Given the description of an element on the screen output the (x, y) to click on. 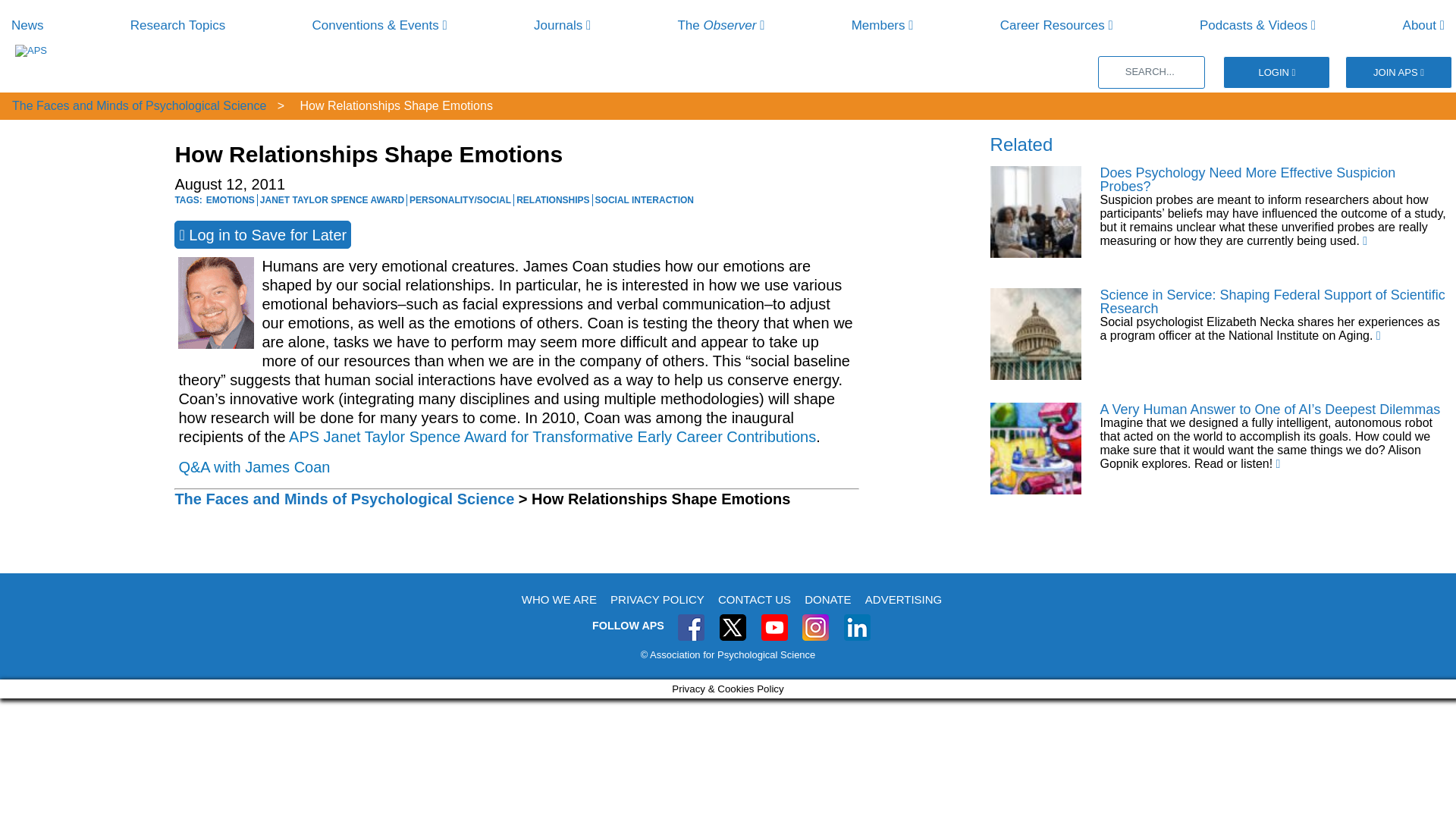
Related (1021, 144)
Career Resources (1056, 25)
About (1423, 25)
Members (882, 25)
Journals (562, 25)
News (27, 25)
Research Topics (178, 25)
The Observer  (720, 25)
